Given the description of an element on the screen output the (x, y) to click on. 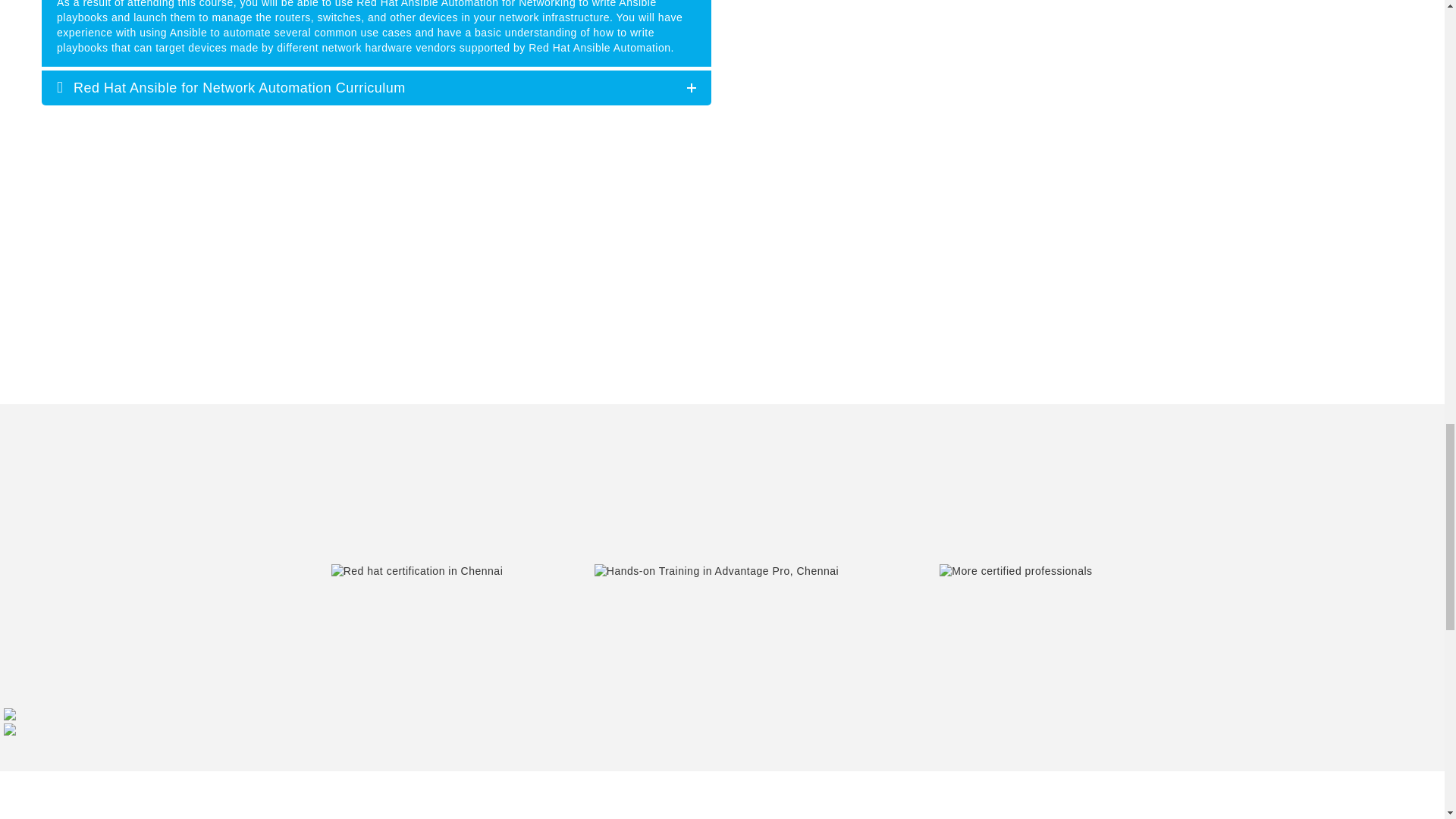
Strong-Foundation (1015, 571)
Red-Hat-certified-instructor (417, 571)
Hands-on-training (716, 571)
